Given the description of an element on the screen output the (x, y) to click on. 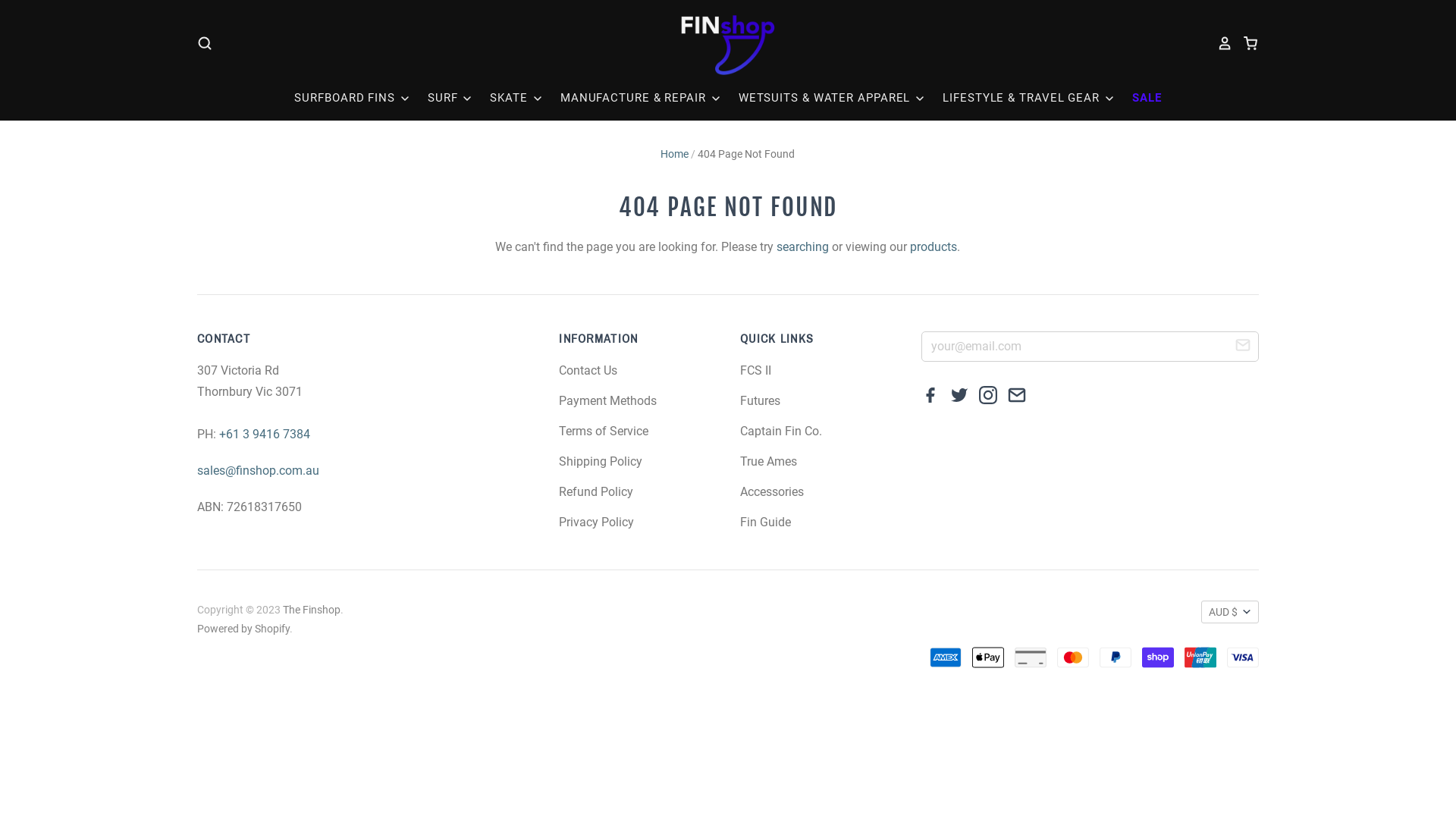
sales@finshop.com.au Element type: text (258, 470)
products Element type: text (933, 246)
+61 3 9416 7384 Element type: text (264, 433)
WETSUITS & WATER APPAREL Element type: text (824, 97)
Home Element type: text (674, 153)
LIFESTYLE & TRAVEL GEAR Element type: text (1021, 97)
The Finshop Element type: text (311, 609)
Terms of Service Element type: text (603, 430)
SALE Element type: text (1139, 97)
SURF Element type: text (442, 97)
Payment Methods Element type: text (607, 400)
True Ames Element type: text (768, 461)
Fin Guide Element type: text (765, 521)
Shipping Policy Element type: text (600, 461)
Refund Policy Element type: text (595, 491)
Contact Us Element type: text (587, 370)
Powered by Shopify Element type: text (243, 628)
FCS II Element type: text (755, 370)
SURFBOARD FINS Element type: text (352, 97)
Captain Fin Co. Element type: text (781, 430)
searching Element type: text (802, 246)
MANUFACTURE & REPAIR Element type: text (633, 97)
SKATE Element type: text (508, 97)
Accessories Element type: text (771, 491)
AUD $ Element type: text (1229, 611)
Privacy Policy Element type: text (595, 521)
Futures Element type: text (760, 400)
